Given the description of an element on the screen output the (x, y) to click on. 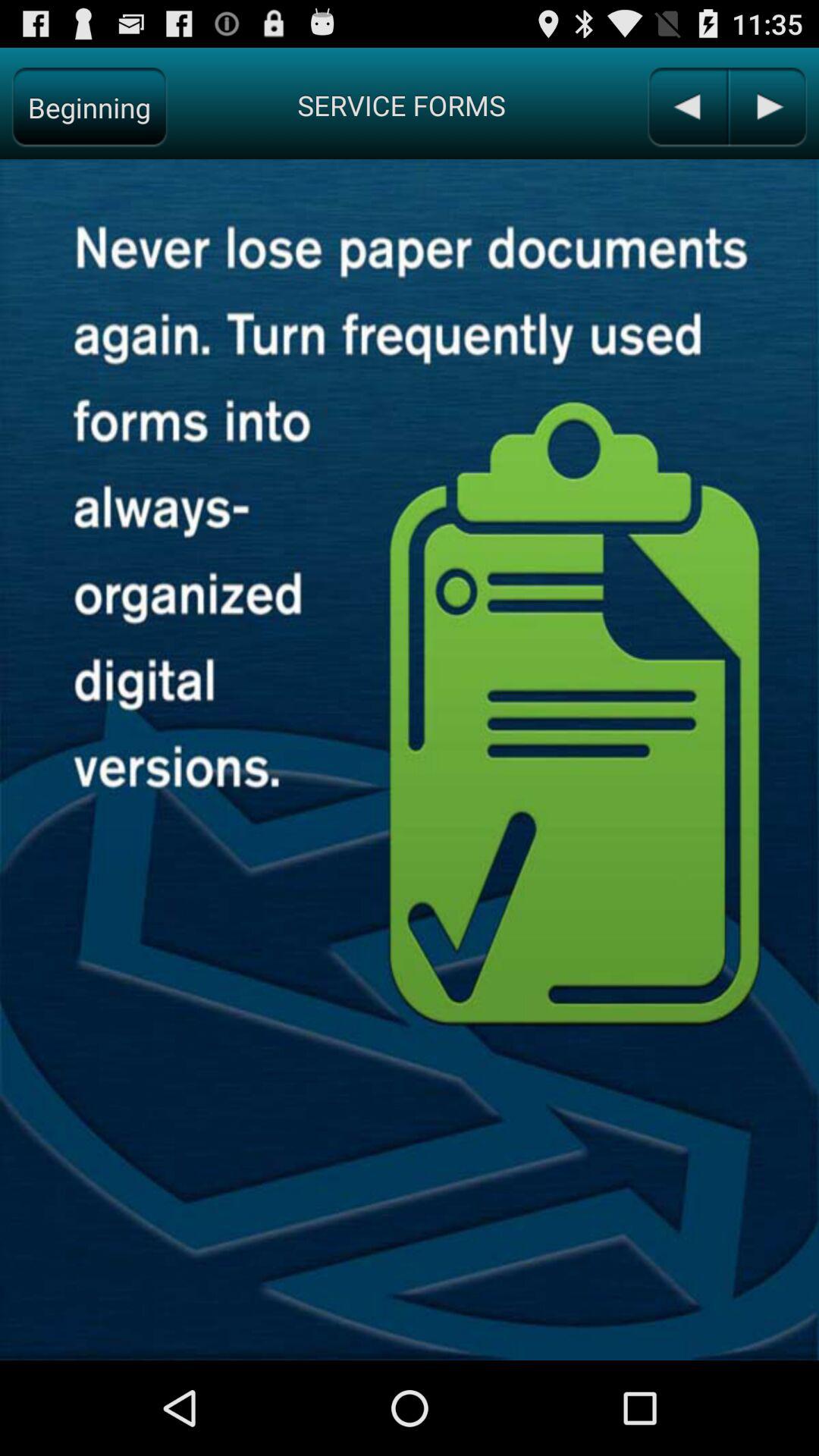
click to the next (767, 107)
